Given the description of an element on the screen output the (x, y) to click on. 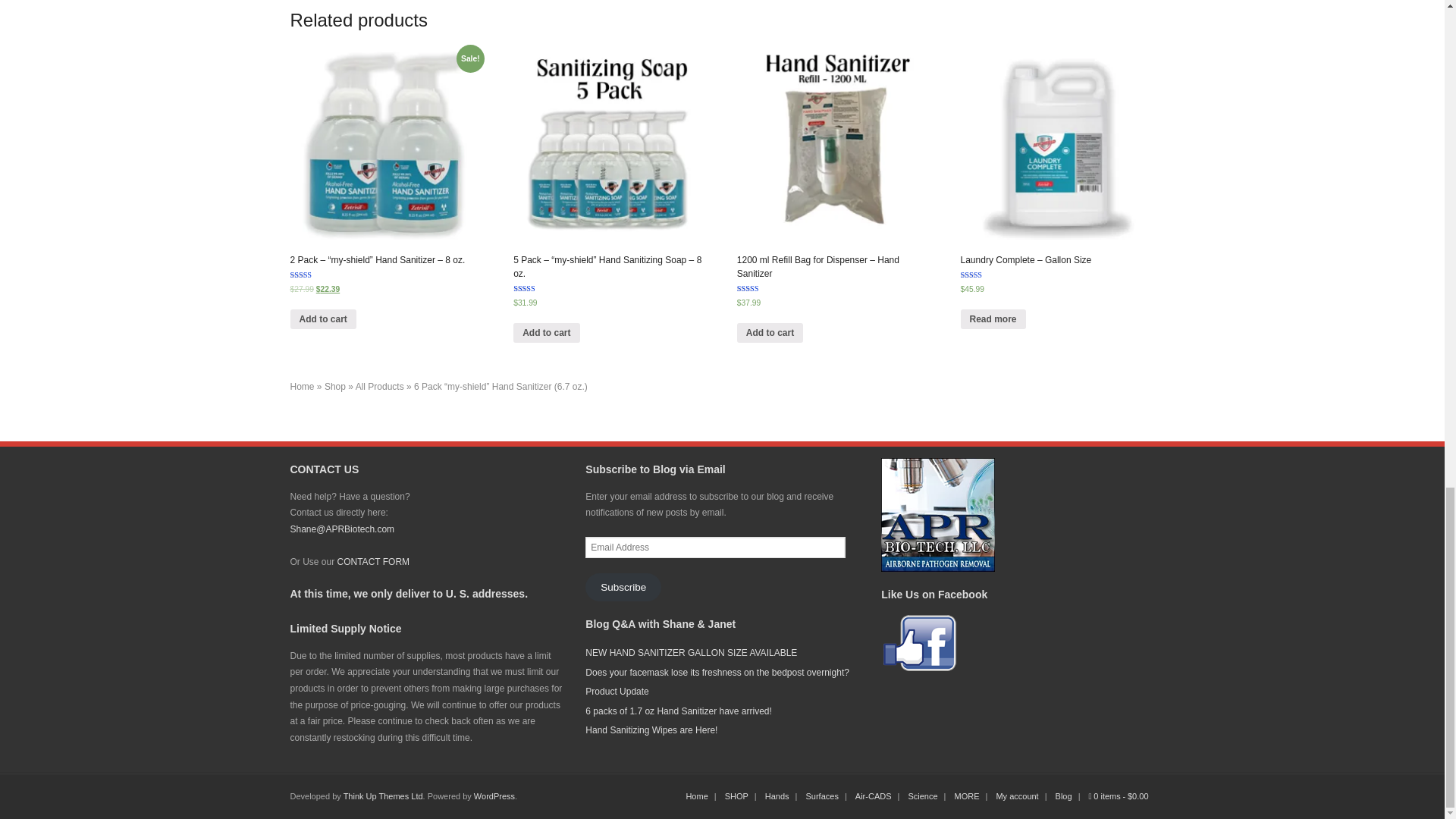
All Products (379, 386)
Home (301, 386)
Shop (335, 386)
Start shopping (1118, 795)
